Given the description of an element on the screen output the (x, y) to click on. 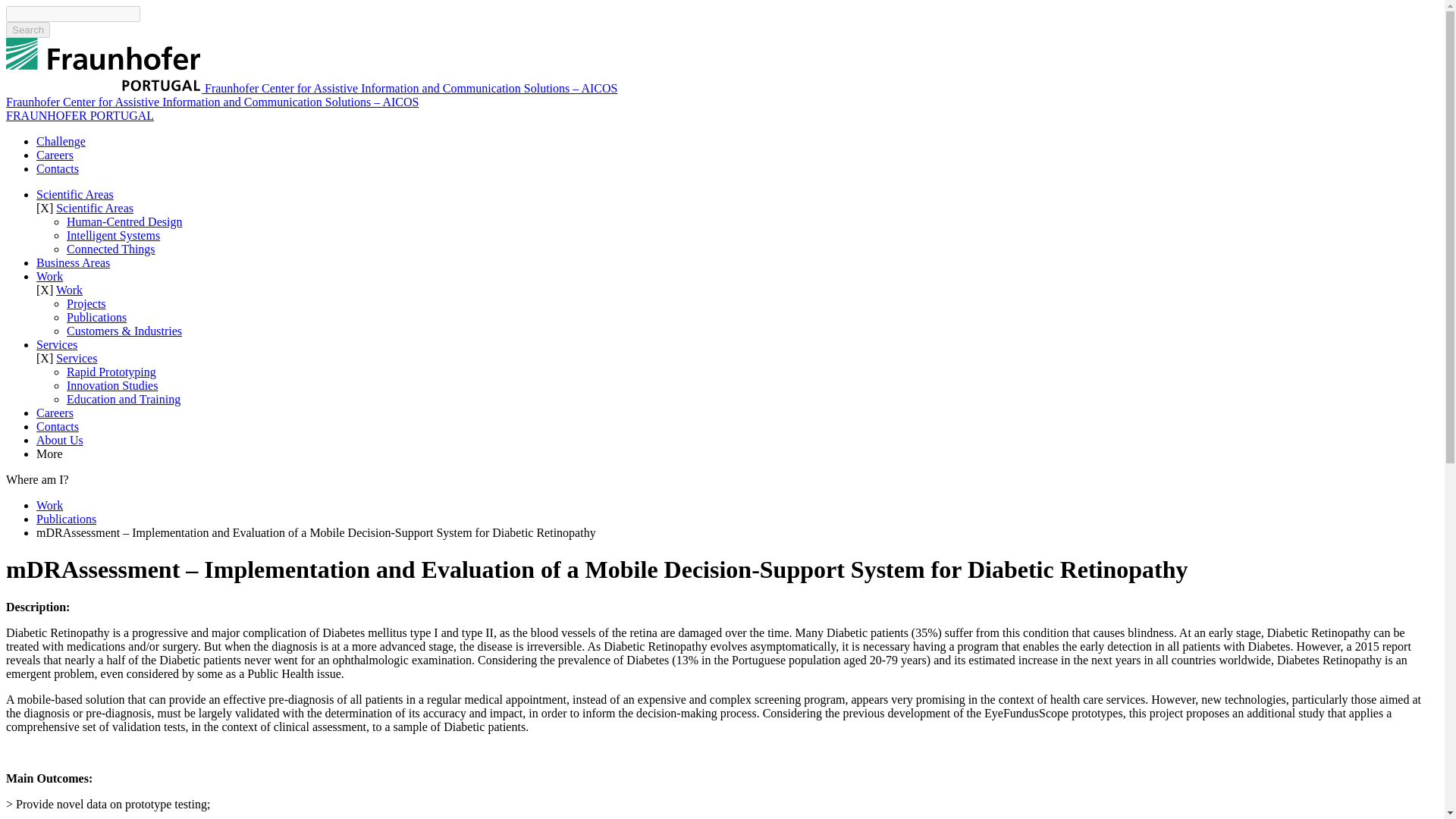
Careers (55, 412)
Work (49, 276)
Work (49, 504)
Services (56, 344)
Contacts (57, 168)
Publications (96, 317)
Education and Training (123, 399)
Careers (55, 154)
FRAUNHOFER PORTUGAL (79, 115)
Scientific Areas (94, 207)
Contacts (57, 426)
Intelligent Systems (113, 235)
Work (69, 289)
Connected Things (110, 248)
Services (76, 358)
